Given the description of an element on the screen output the (x, y) to click on. 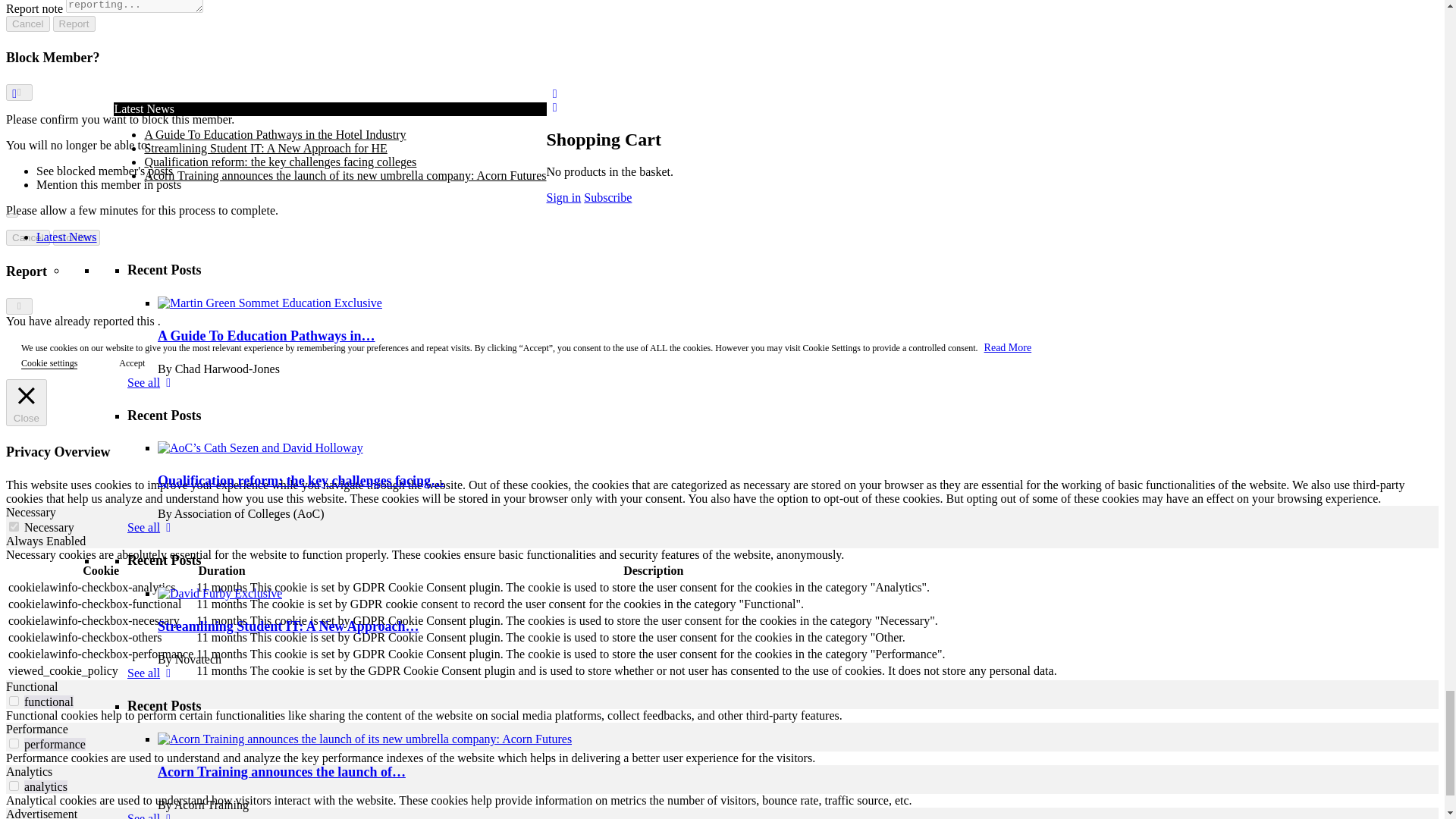
on (13, 526)
Cancel (27, 237)
on (13, 700)
on (13, 786)
Cancel (27, 23)
on (13, 743)
